Given the description of an element on the screen output the (x, y) to click on. 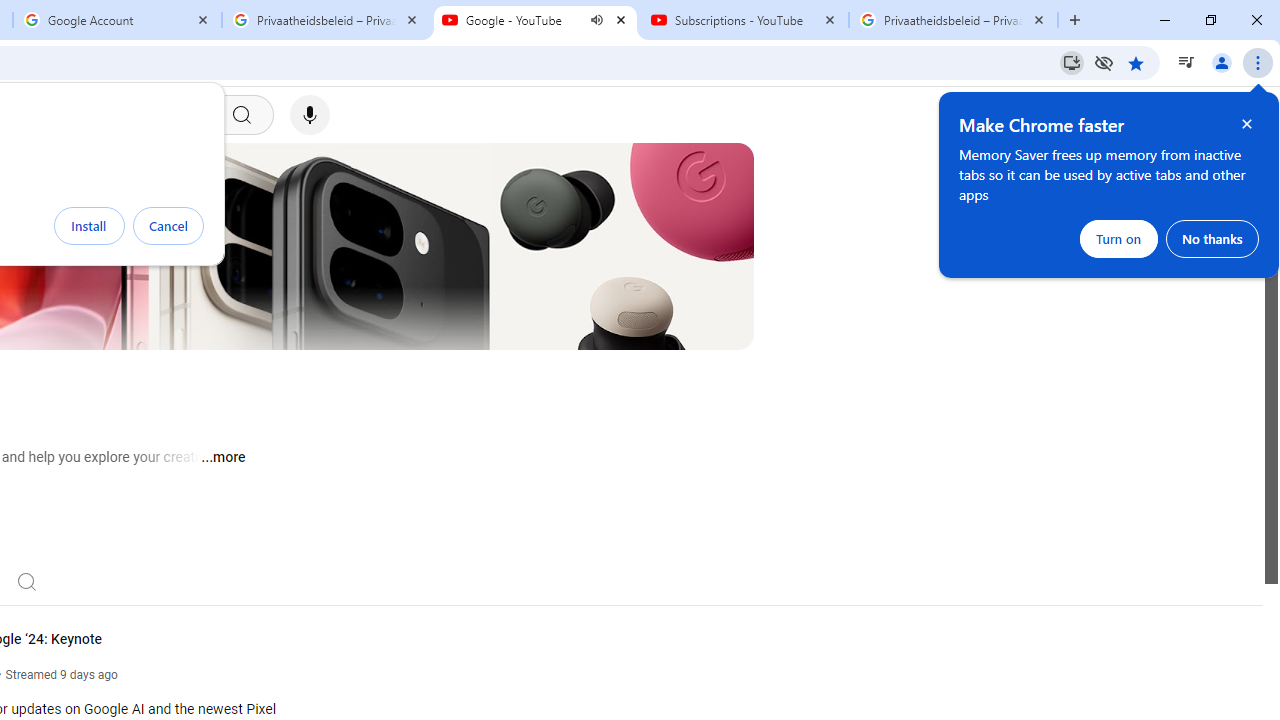
Mute tab (596, 20)
Google Account (116, 20)
Subscriptions - YouTube (744, 20)
Google - YouTube - Audio playing (535, 20)
Close help bubble (1247, 124)
Install (89, 225)
